Given the description of an element on the screen output the (x, y) to click on. 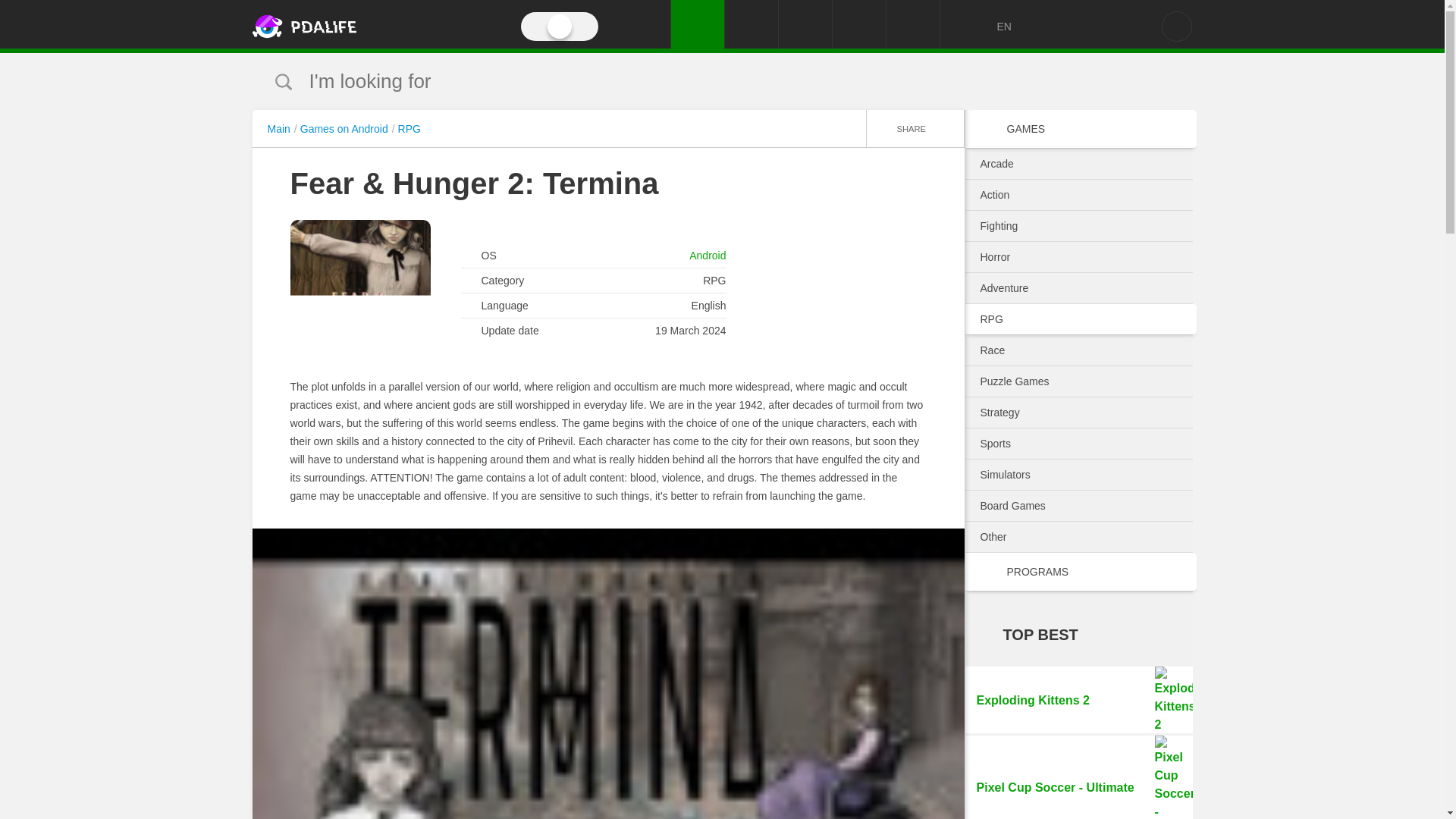
GAMES (1077, 128)
RPG (1077, 318)
Exploding Kittens 2 (1077, 699)
SHARE (914, 127)
RPG (408, 128)
Games on Android (346, 128)
Arcade (1077, 163)
Action (1077, 194)
Main (281, 128)
Fighting (1077, 225)
